Given the description of an element on the screen output the (x, y) to click on. 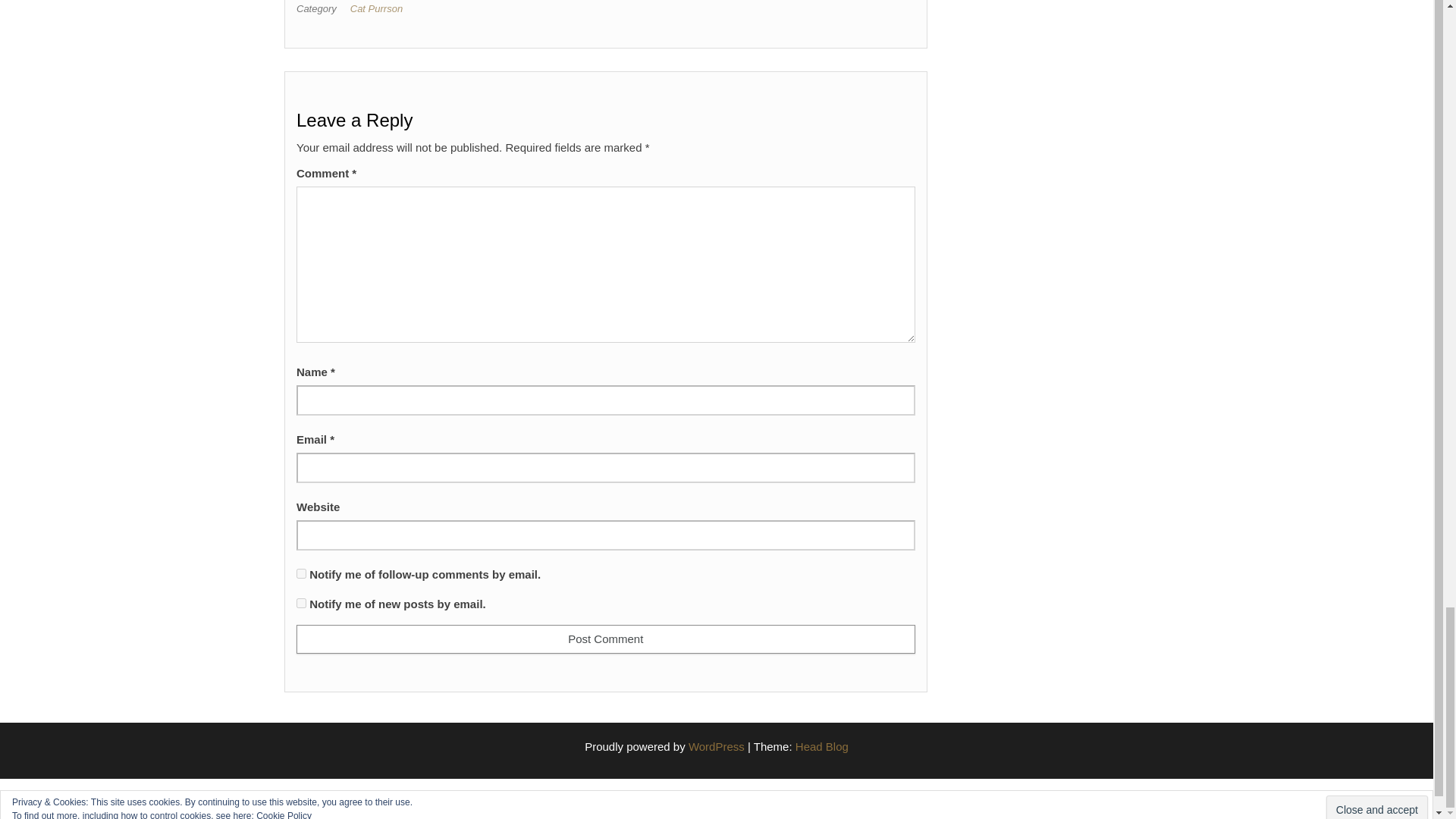
subscribe (301, 573)
Post Comment (606, 638)
Close and accept (1377, 807)
subscribe (301, 603)
